Given the description of an element on the screen output the (x, y) to click on. 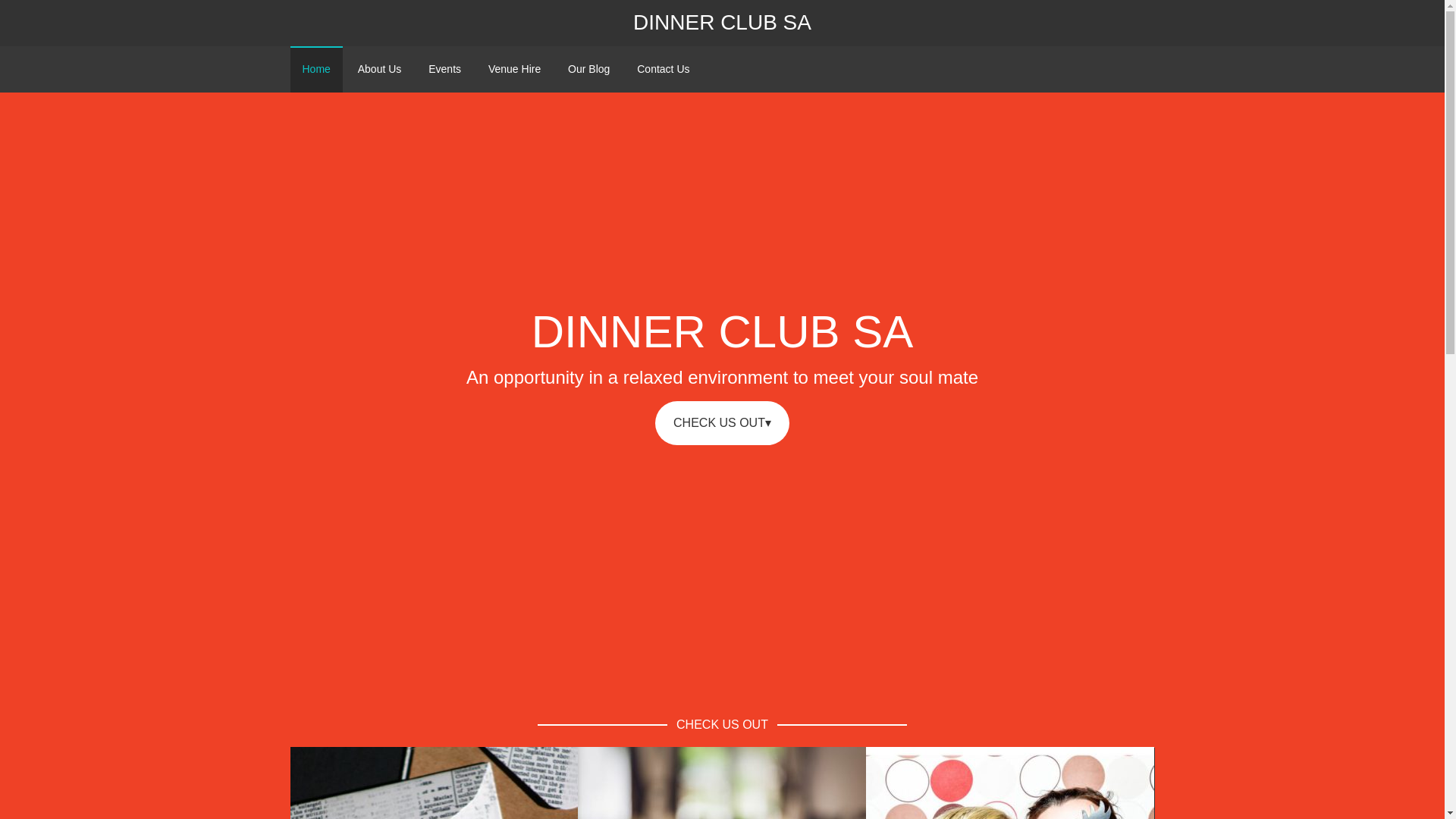
Home (315, 68)
Venue Hire (514, 68)
DINNER CLUB SA (721, 22)
About Us (379, 68)
Singles Dinners (666, 785)
Dinner Club Events (968, 785)
Contact Us (662, 68)
Registration (364, 785)
Our Blog (588, 68)
Events (444, 68)
